Given the description of an element on the screen output the (x, y) to click on. 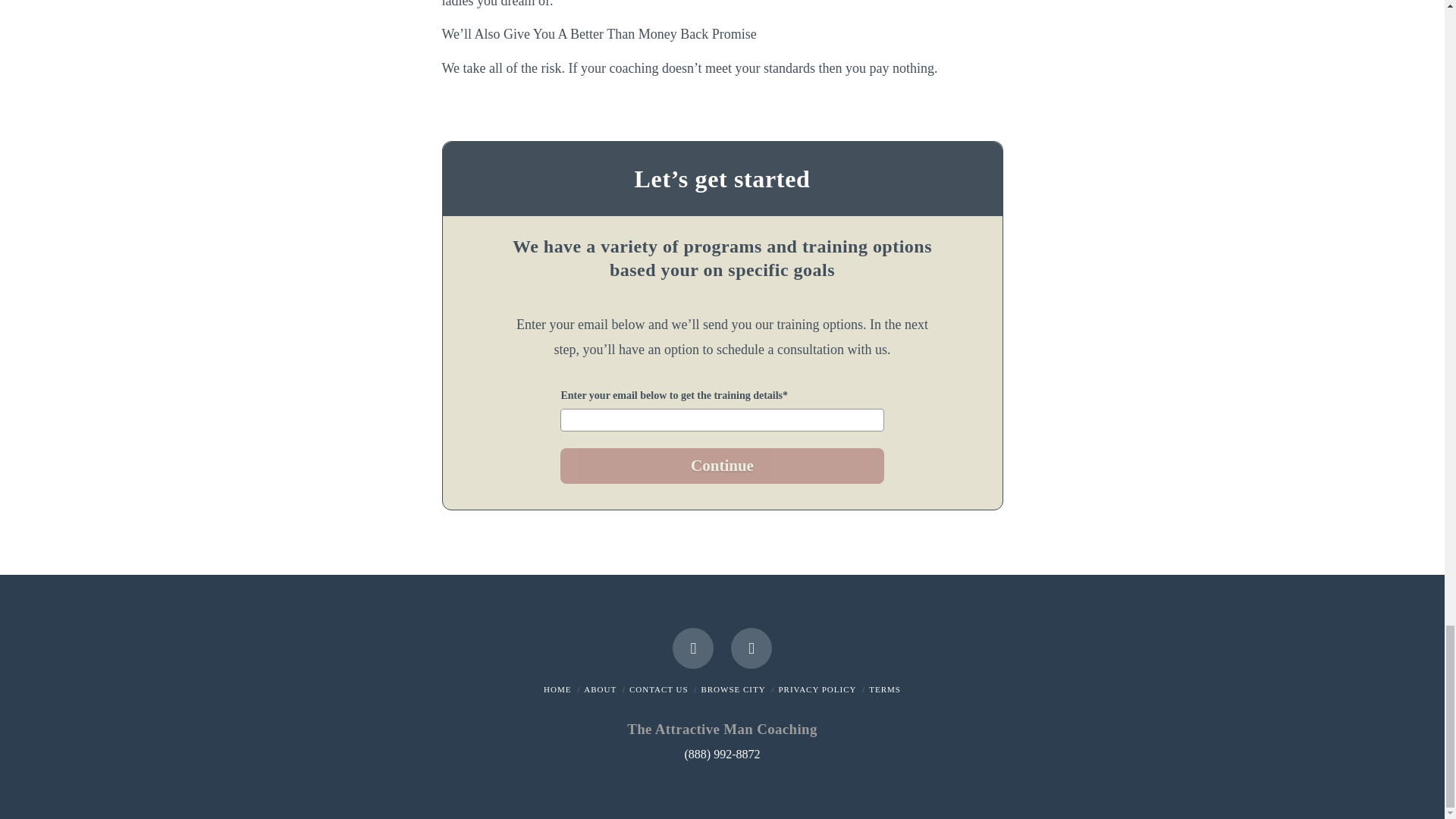
TERMS (885, 688)
CONTACT US (658, 688)
YouTube (750, 648)
HOME (556, 688)
Continue (721, 465)
PRIVACY POLICY (816, 688)
BROWSE CITY (732, 688)
ABOUT (599, 688)
Facebook (692, 648)
